Given the description of an element on the screen output the (x, y) to click on. 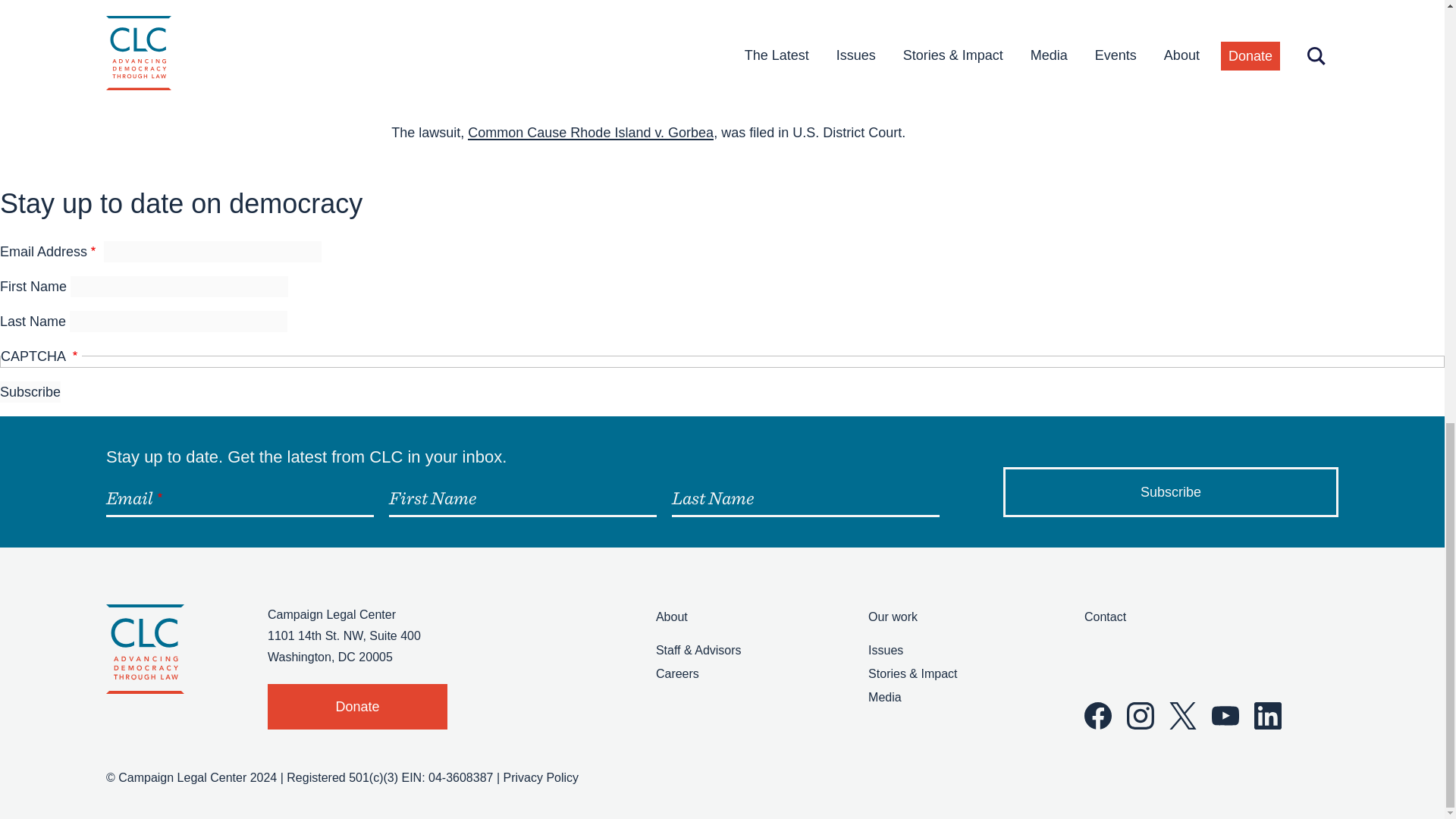
Careers (677, 673)
Donate (356, 706)
Subscribe (1170, 491)
About CLC (671, 616)
Issues (884, 649)
Subscribe (30, 391)
Media (884, 697)
Subscribe (1170, 491)
Careers (677, 673)
Subscribe (30, 391)
